Given the description of an element on the screen output the (x, y) to click on. 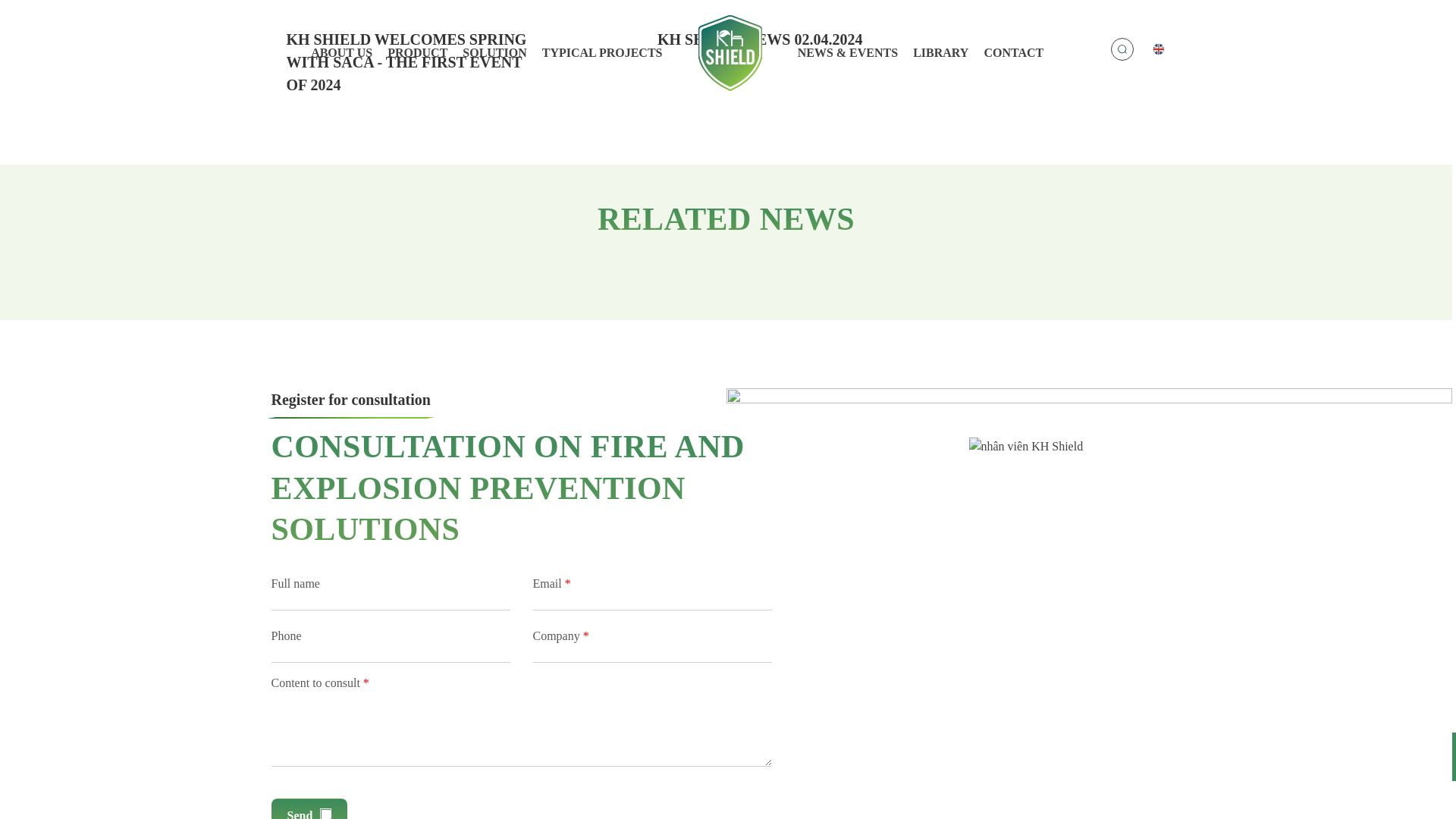
KH SHIELD NEWS 02.04.2024 (726, 61)
